Given the description of an element on the screen output the (x, y) to click on. 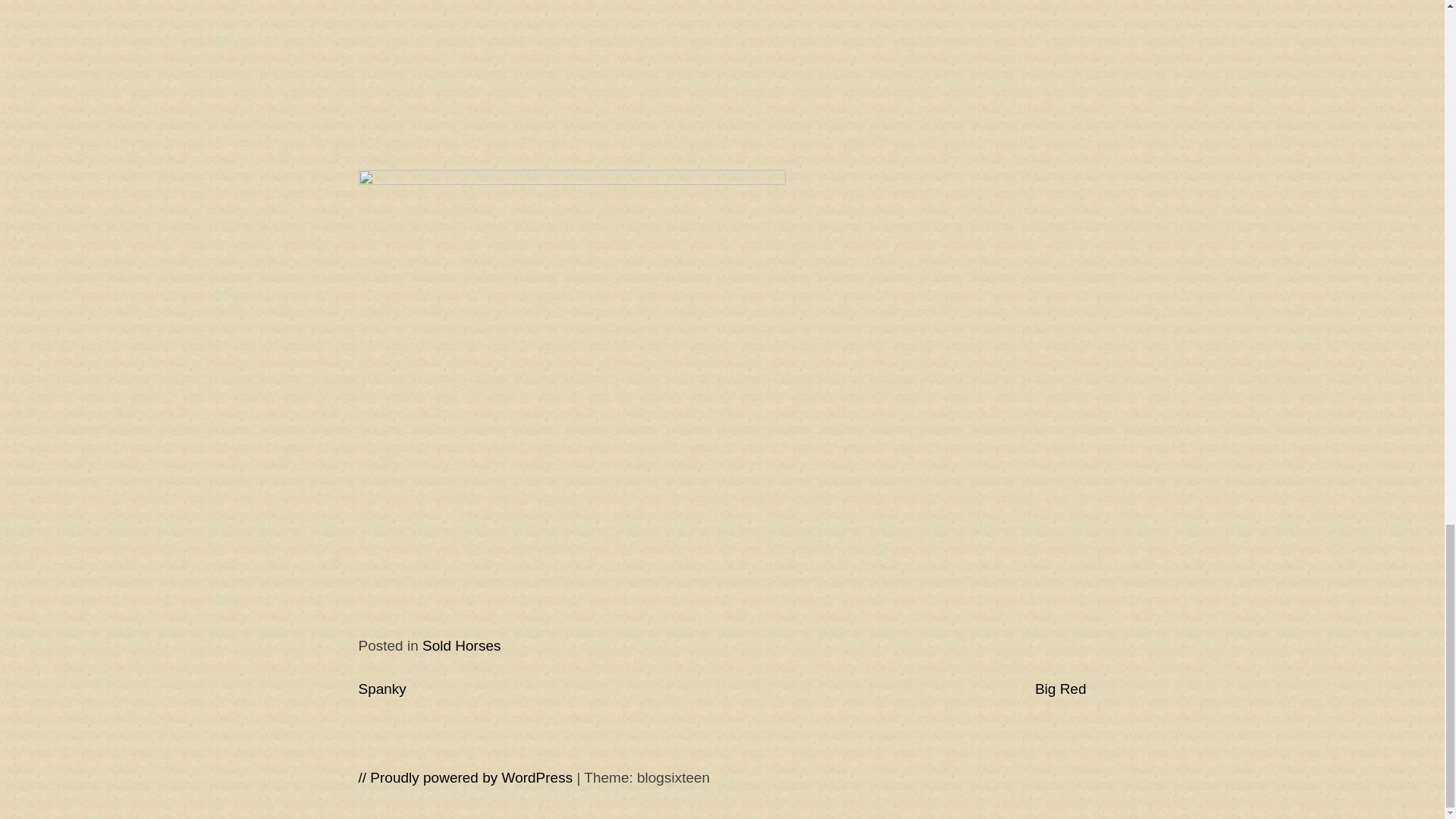
Sold Horses (461, 645)
Big Red (1060, 688)
Spanky (382, 688)
